Given the description of an element on the screen output the (x, y) to click on. 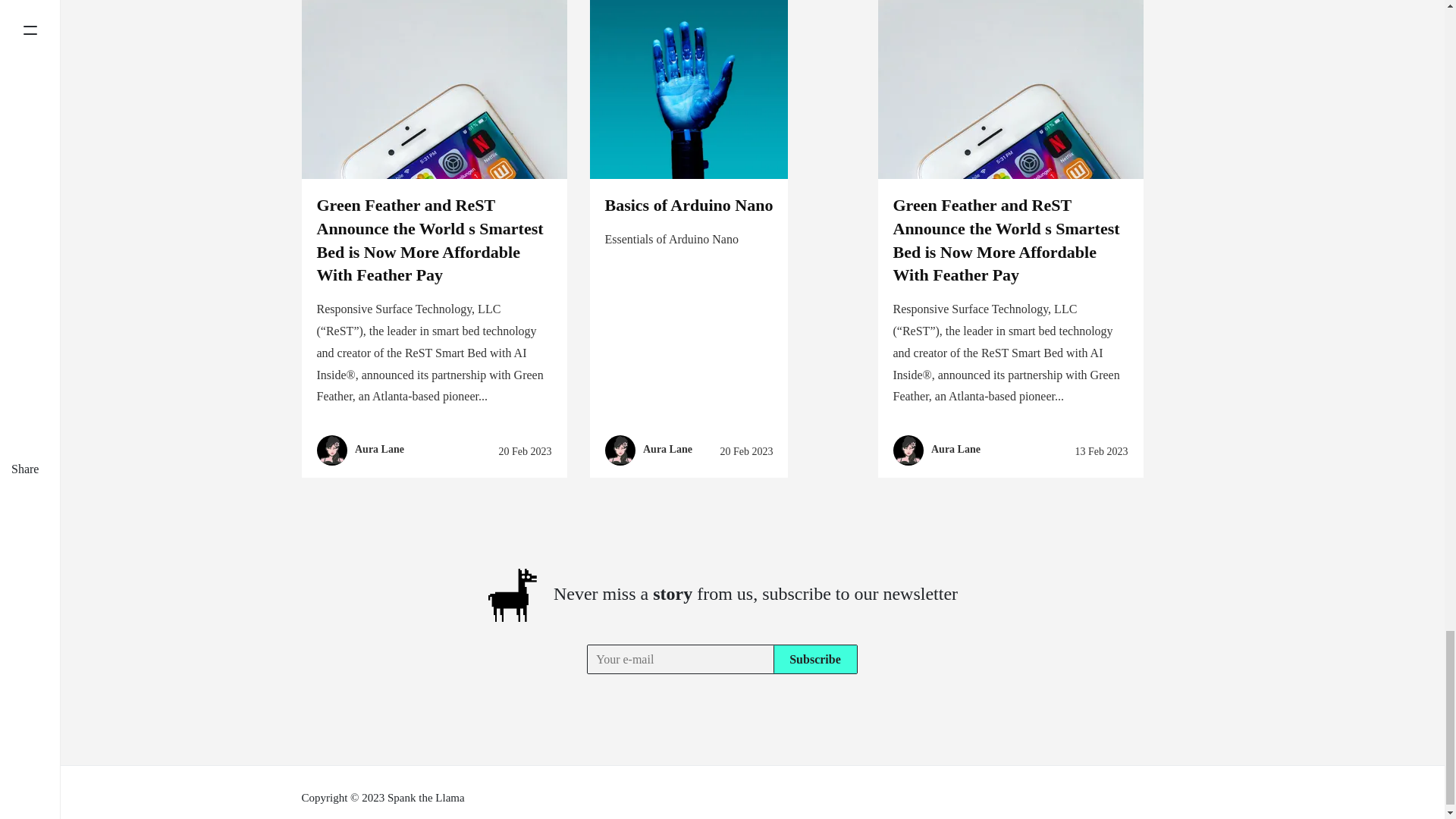
Aura Lane (955, 449)
Subscribe (815, 659)
Subscribe (815, 659)
Aura Lane (668, 449)
Basics of Arduino Nano (689, 204)
Aura Lane (379, 449)
